Given the description of an element on the screen output the (x, y) to click on. 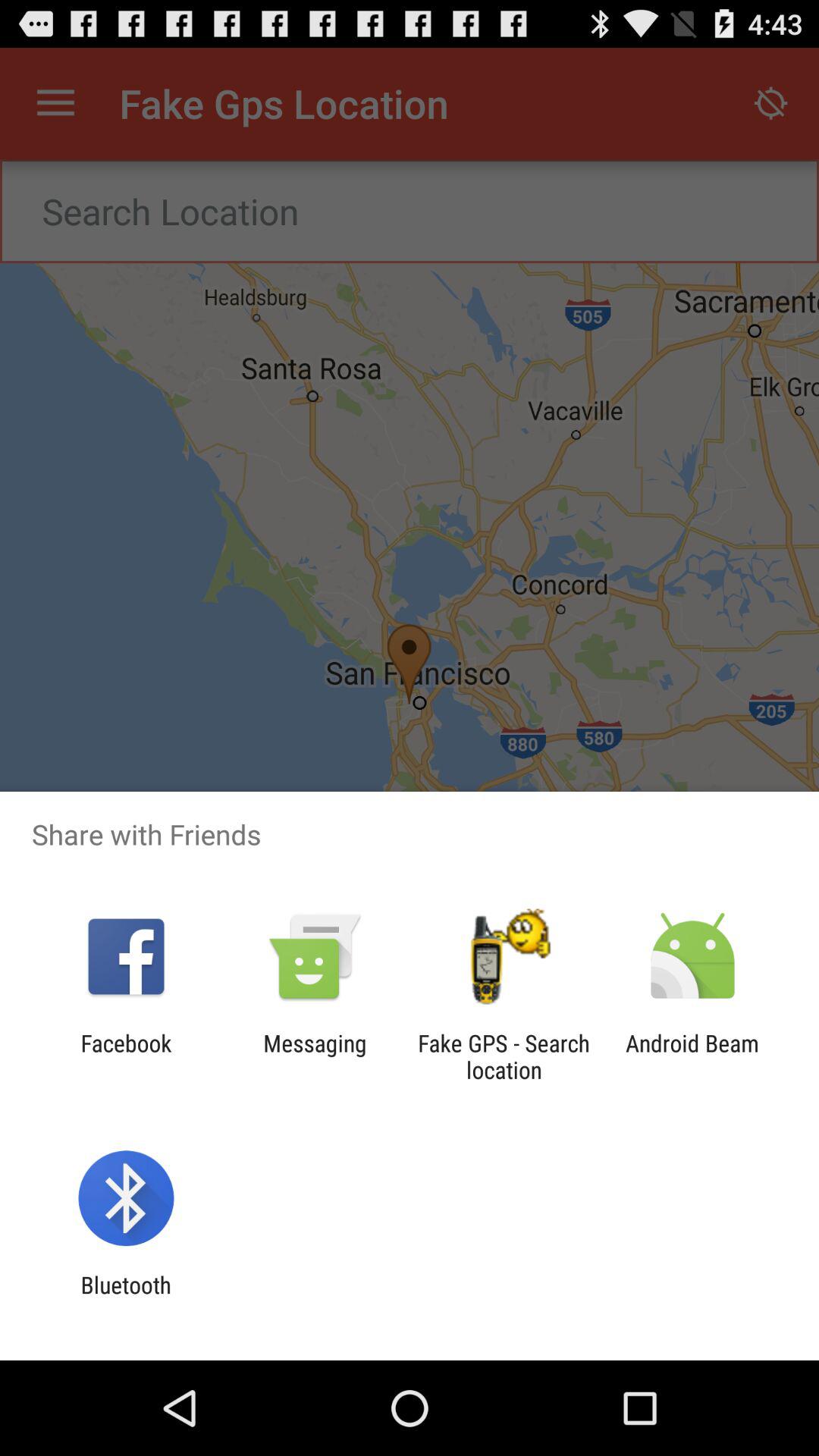
press messaging item (314, 1056)
